Given the description of an element on the screen output the (x, y) to click on. 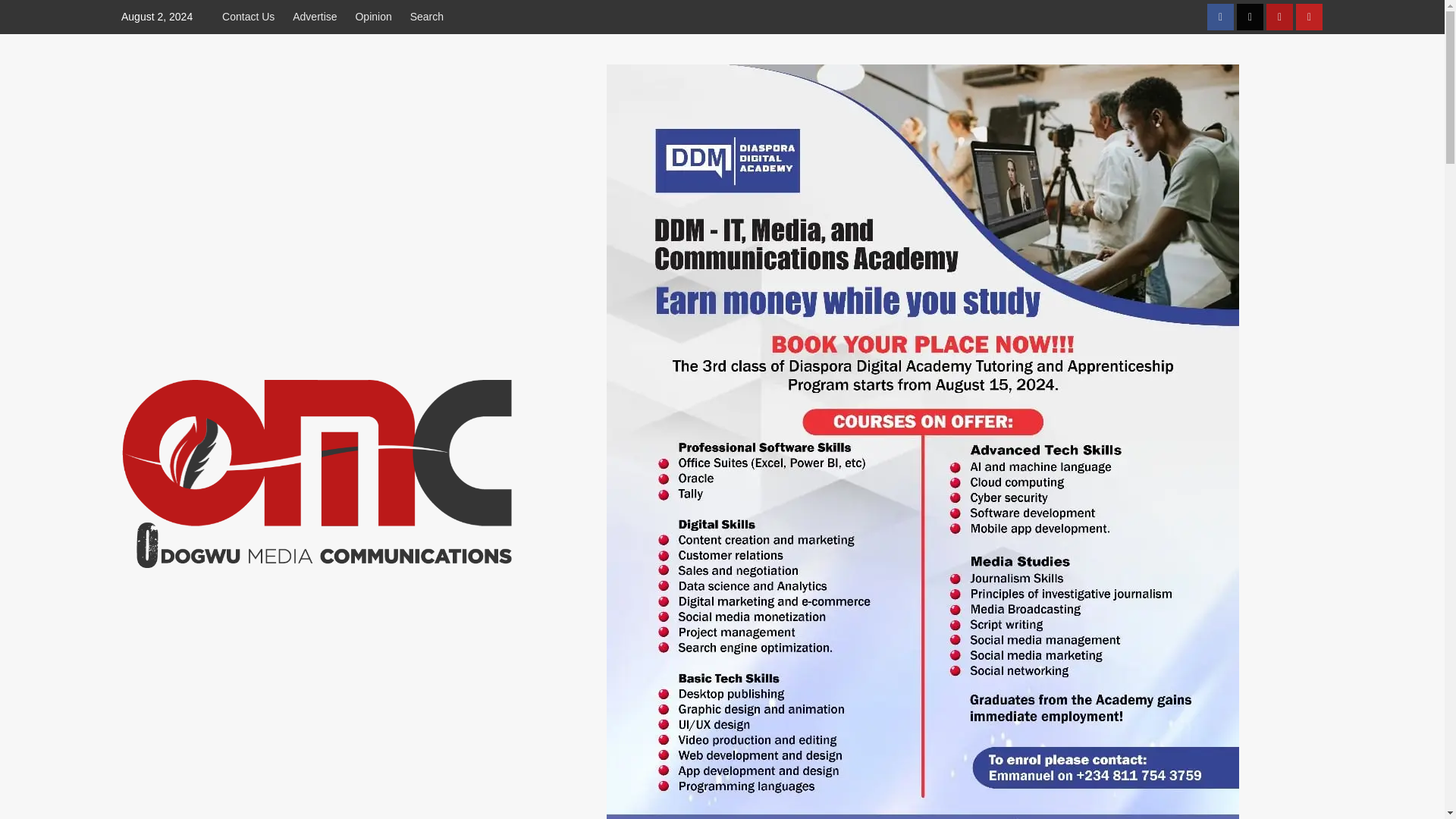
Advertise (314, 17)
YouTube (1308, 17)
Search (427, 17)
Contact Us (252, 17)
Facebook (1220, 17)
Twitter (1249, 17)
Telegram (1279, 17)
Opinion (372, 17)
